Given the description of an element on the screen output the (x, y) to click on. 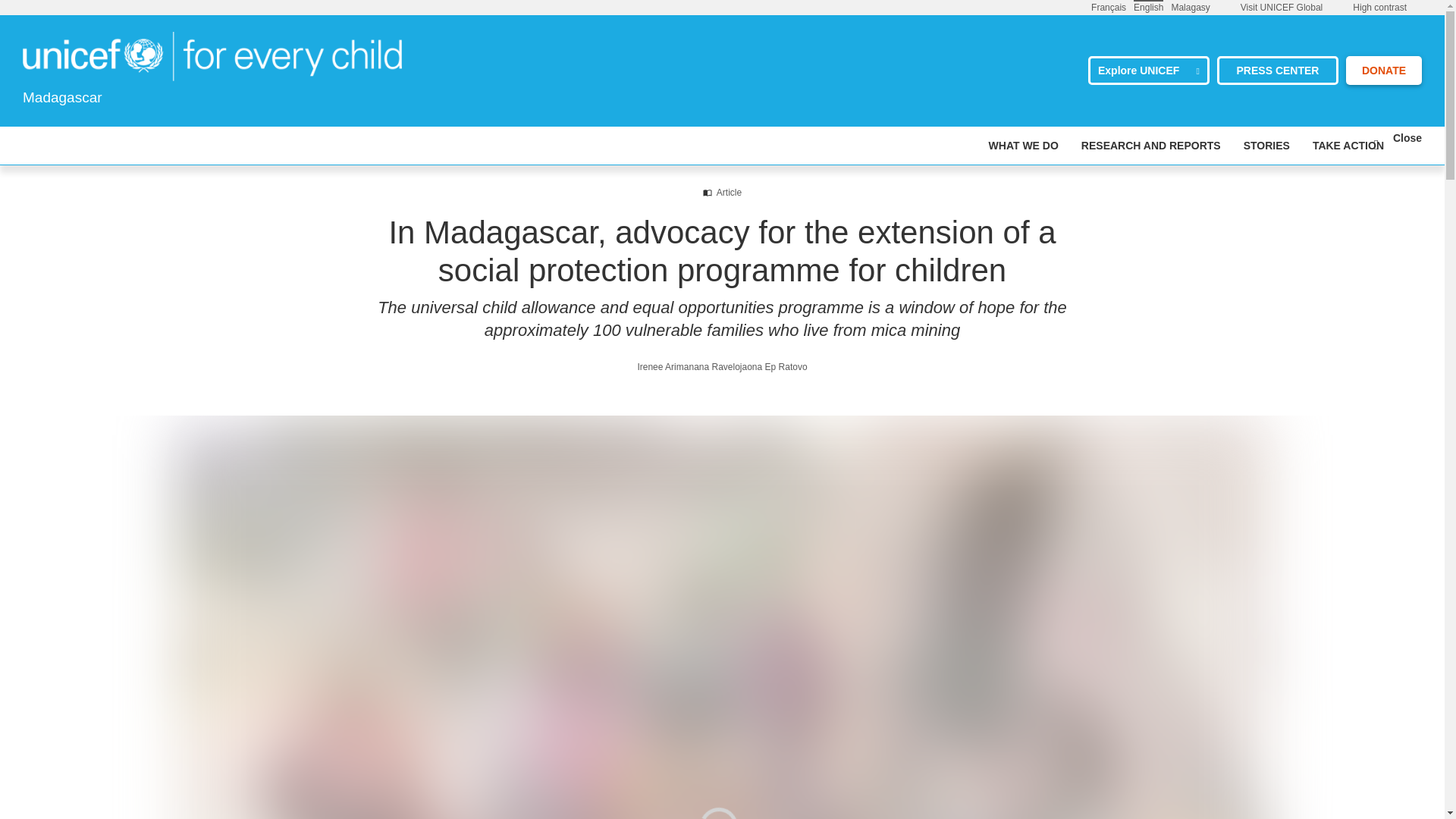
Explore UNICEF (1148, 70)
Explore UNICEF (1148, 70)
Malagasy (1189, 6)
DONATE (1383, 70)
Madagascar (212, 56)
WHAT WE DO (1023, 145)
PRESS CENTER (1277, 70)
High contrast (1379, 7)
RESEARCH AND REPORTS (1151, 145)
